Given the description of an element on the screen output the (x, y) to click on. 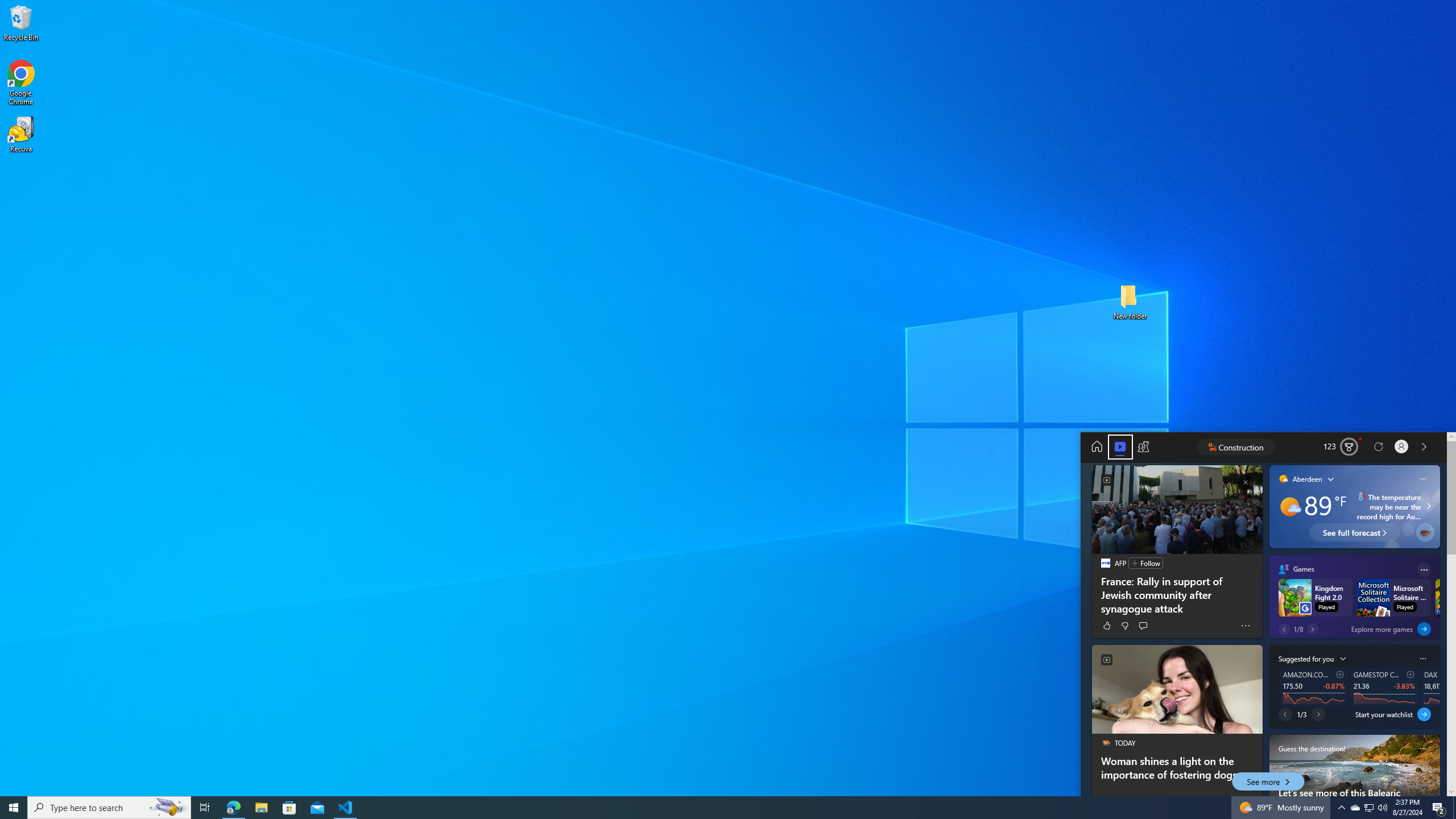
Search highlights icon opens search home window (167, 807)
Q2790: 100% (1355, 807)
Microsoft Store (1382, 807)
Start (289, 807)
Visual Studio Code - 1 running window (13, 807)
Action Center, 2 new notifications (345, 807)
User Promoted Notification Area (1439, 807)
Task View (1368, 807)
Show desktop (204, 807)
Notification Chevron (1454, 807)
